Given the description of an element on the screen output the (x, y) to click on. 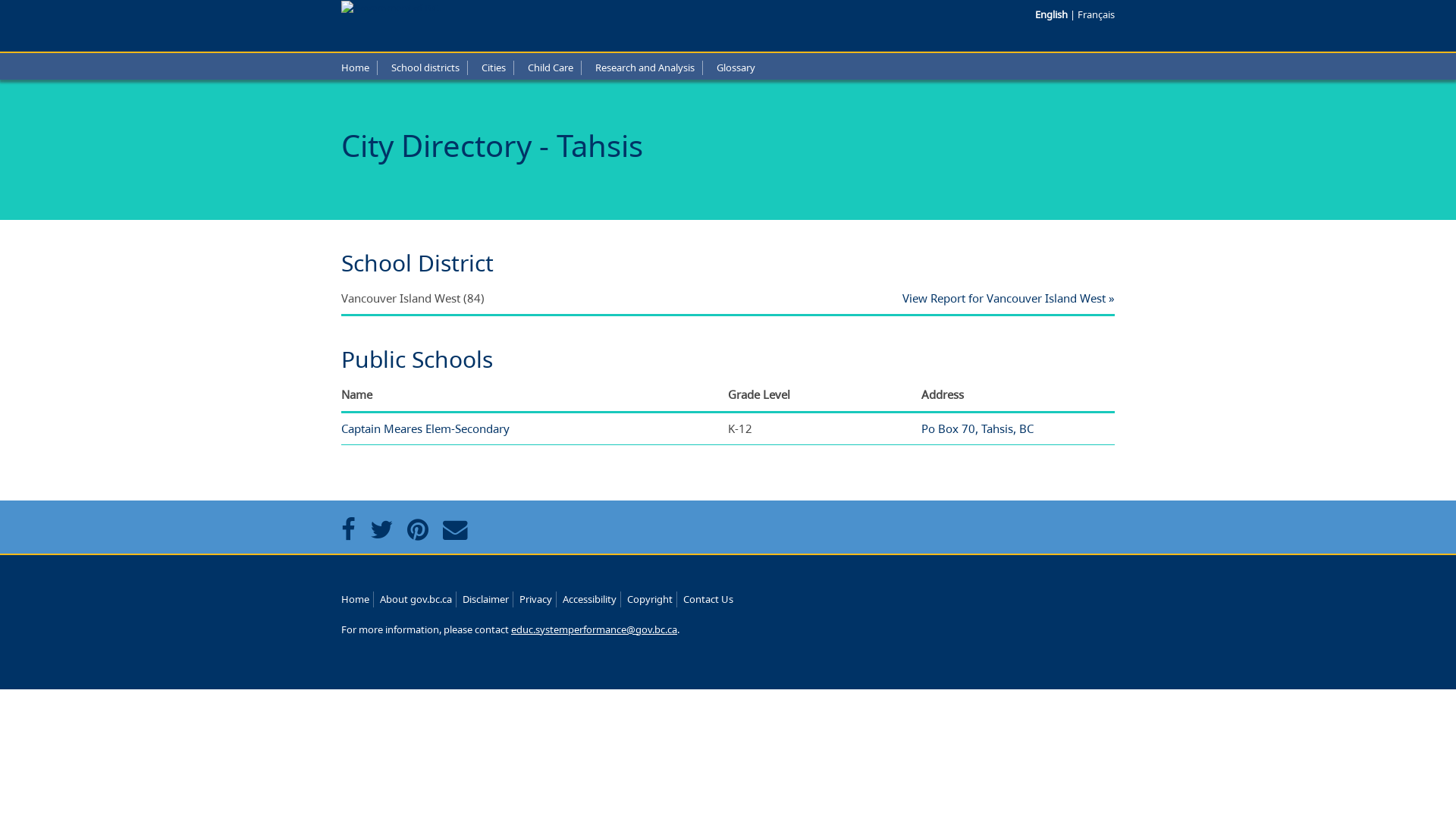
Cities Element type: text (493, 67)
Government of B.C. Element type: hover (390, 7)
Privacy Element type: text (535, 598)
About gov.bc.ca Element type: text (415, 598)
Share this page via email Element type: hover (458, 528)
Research and Analysis Element type: text (644, 67)
Disclaimer Element type: text (485, 598)
Captain Meares Elem-Secondary Element type: text (425, 428)
Home Element type: text (355, 67)
Copyright Element type: text (649, 598)
Accessibility Element type: text (589, 598)
School districts Element type: text (425, 67)
Po Box 70, Tahsis, BC Element type: text (977, 428)
Share this page on Twitter Element type: hover (385, 528)
Share this page on Facebook Element type: hover (352, 528)
View Report for Vancouver Island West Element type: text (1008, 297)
Contact Us Element type: text (708, 598)
Glossary Element type: text (735, 67)
English Element type: text (1052, 14)
Child Care Element type: text (550, 67)
Share this page on Pintrest Element type: hover (421, 528)
Home Element type: text (355, 598)
educ.systemperformance@gov.bc.ca Element type: text (594, 629)
